Given the description of an element on the screen output the (x, y) to click on. 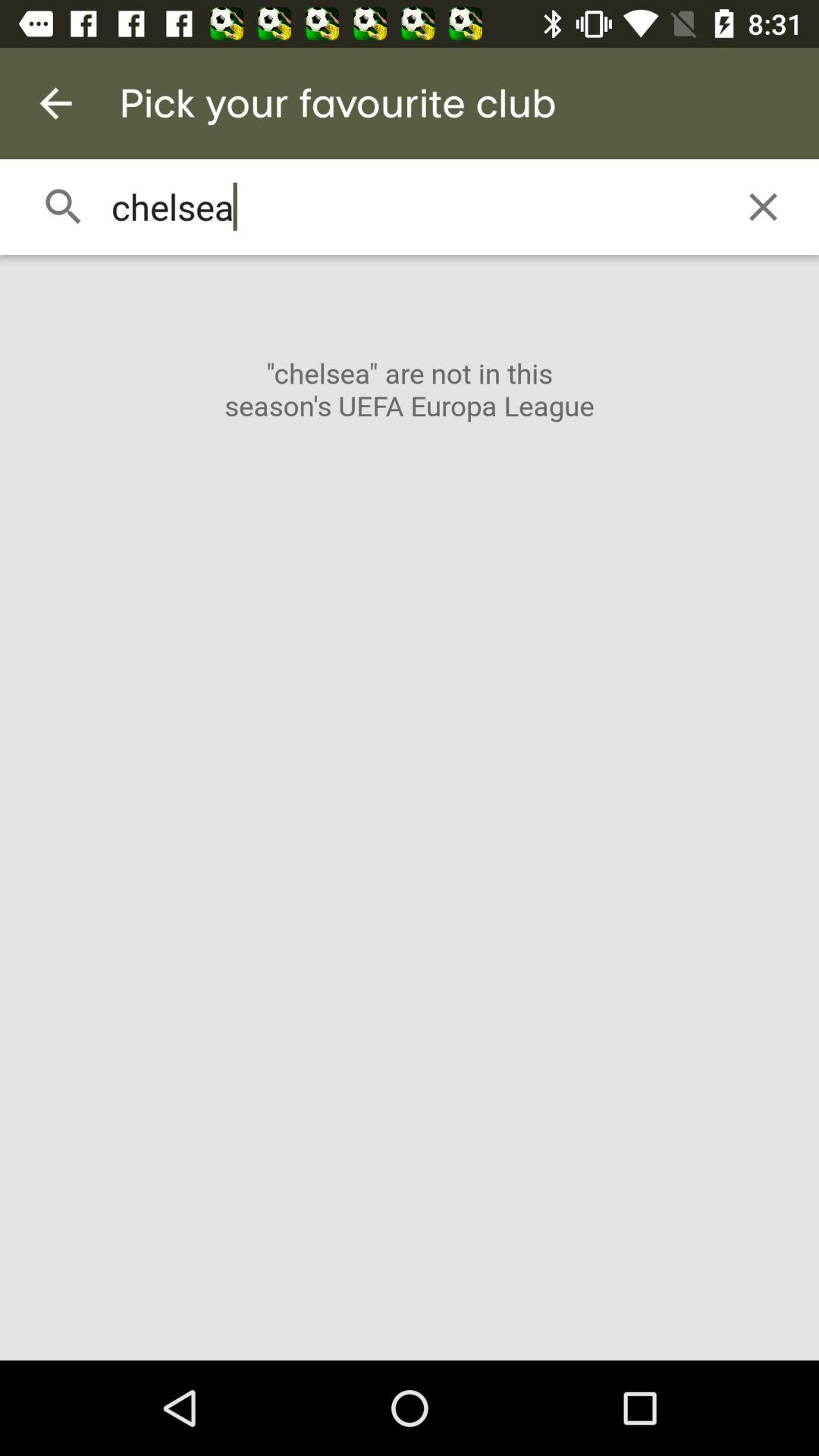
choose item next to the pick your favourite item (55, 103)
